Given the description of an element on the screen output the (x, y) to click on. 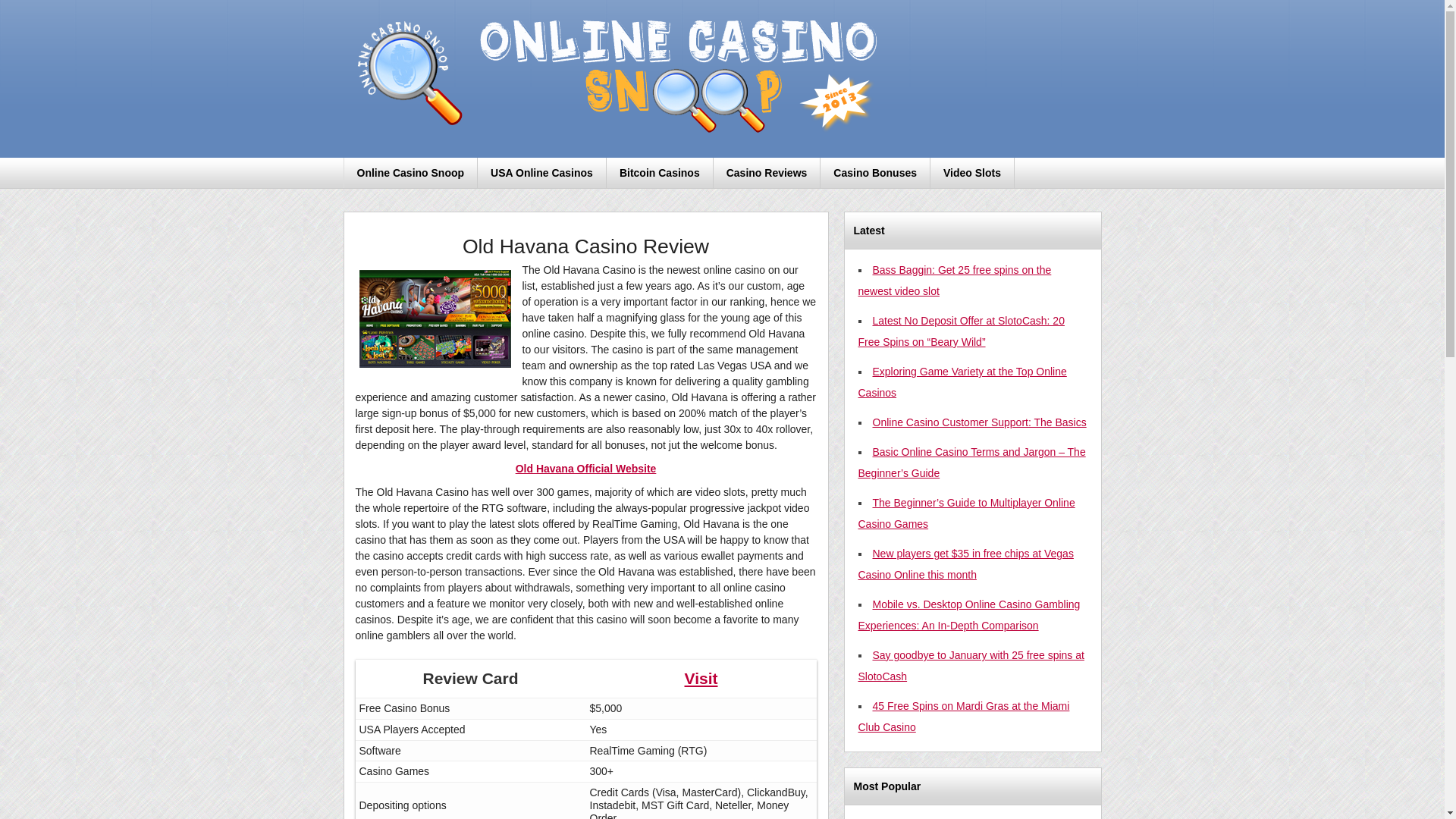
Say goodbye to January with 25 free spins at SlotoCash (971, 665)
Casino Reviews (767, 173)
Exploring Game Variety at the Top Online Casinos (963, 381)
Visit (700, 678)
45 Free Spins on Mardi Gras at the Miami Club Casino (964, 716)
Bitcoin Casinos (660, 173)
Video Slots (972, 173)
Online Casino Snoop (411, 173)
Online Casino Customer Support: The Basics (979, 422)
